Given the description of an element on the screen output the (x, y) to click on. 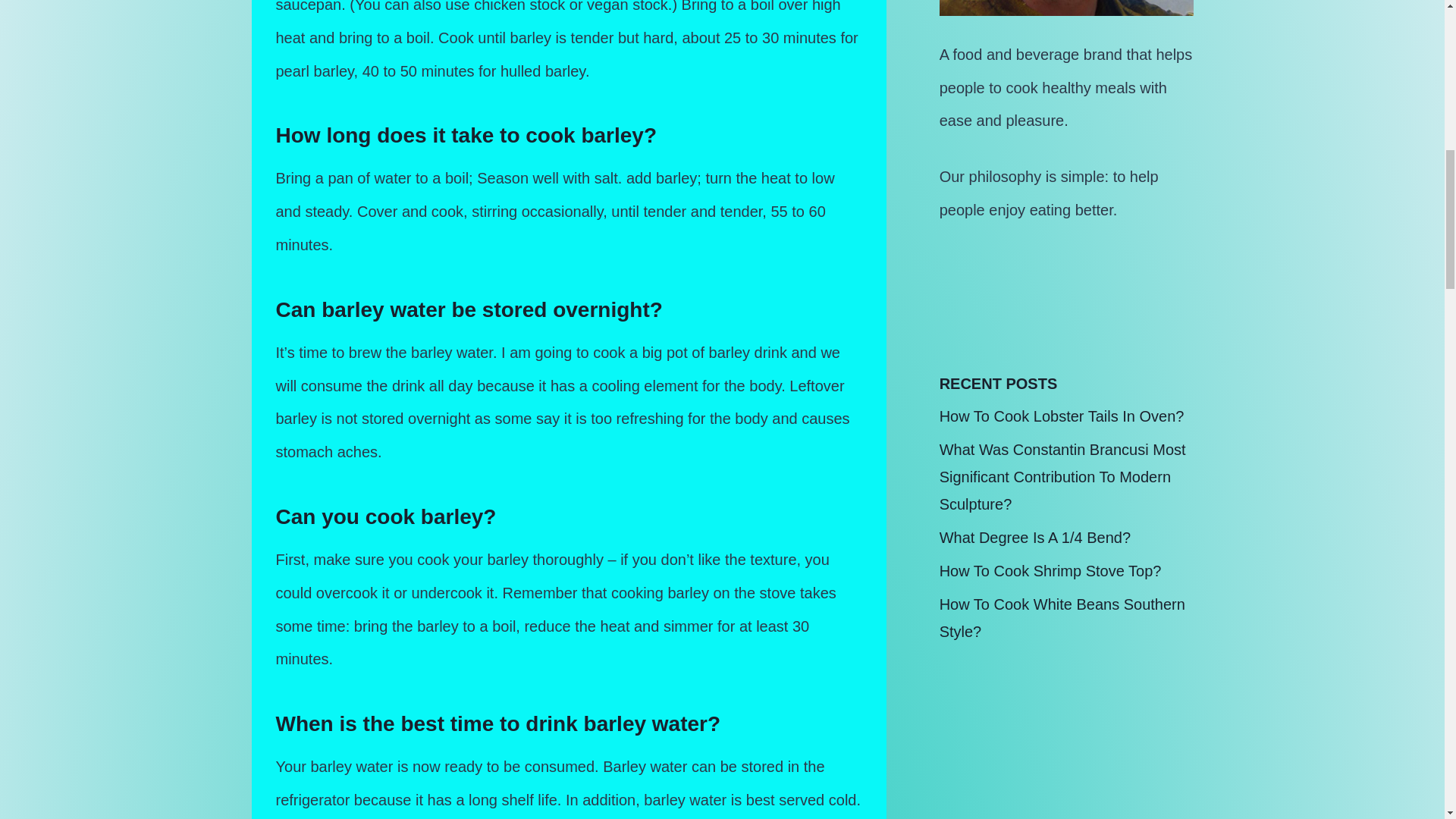
How To Cook White Beans Southern Style? (1062, 617)
How To Cook Lobster Tails In Oven? (1062, 416)
How To Cook Shrimp Stove Top? (1050, 570)
